Given the description of an element on the screen output the (x, y) to click on. 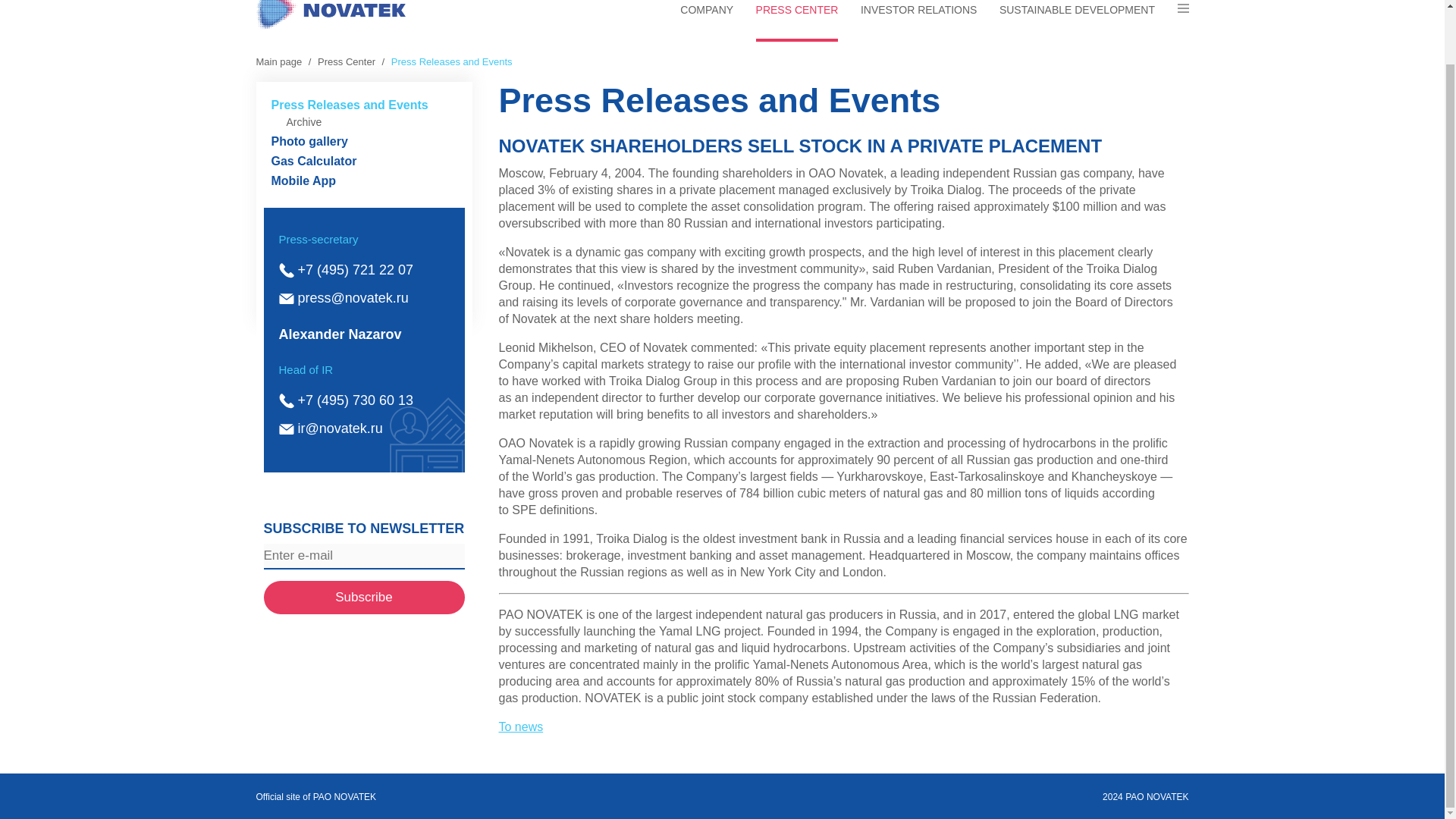
COMPANY (706, 22)
PRESS CENTER (796, 22)
Subscribe (363, 597)
INVESTOR RELATIONS (918, 22)
SUSTAINABLE DEVELOPMENT (1076, 22)
